Given the description of an element on the screen output the (x, y) to click on. 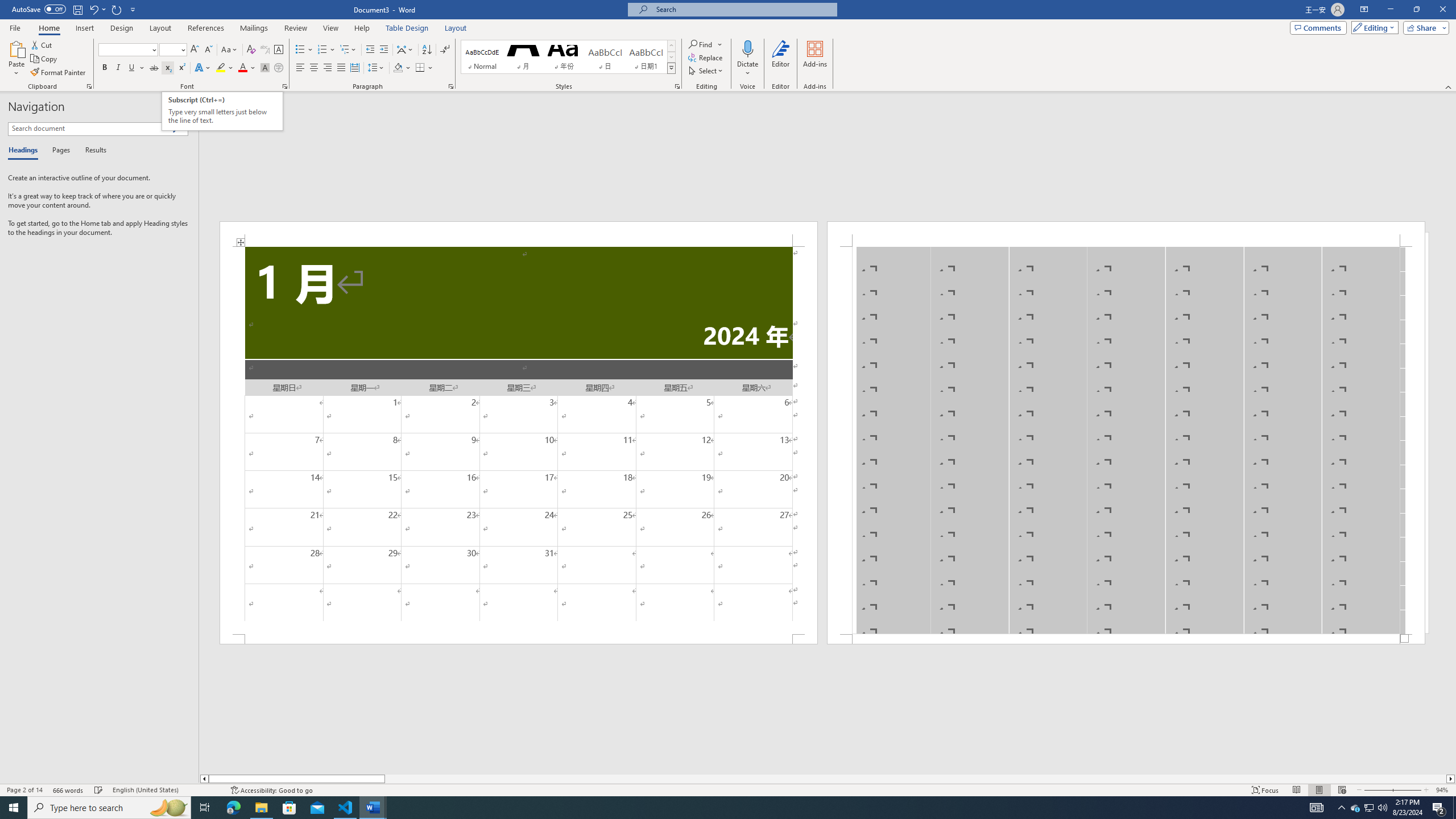
Column right (1450, 778)
